Given the description of an element on the screen output the (x, y) to click on. 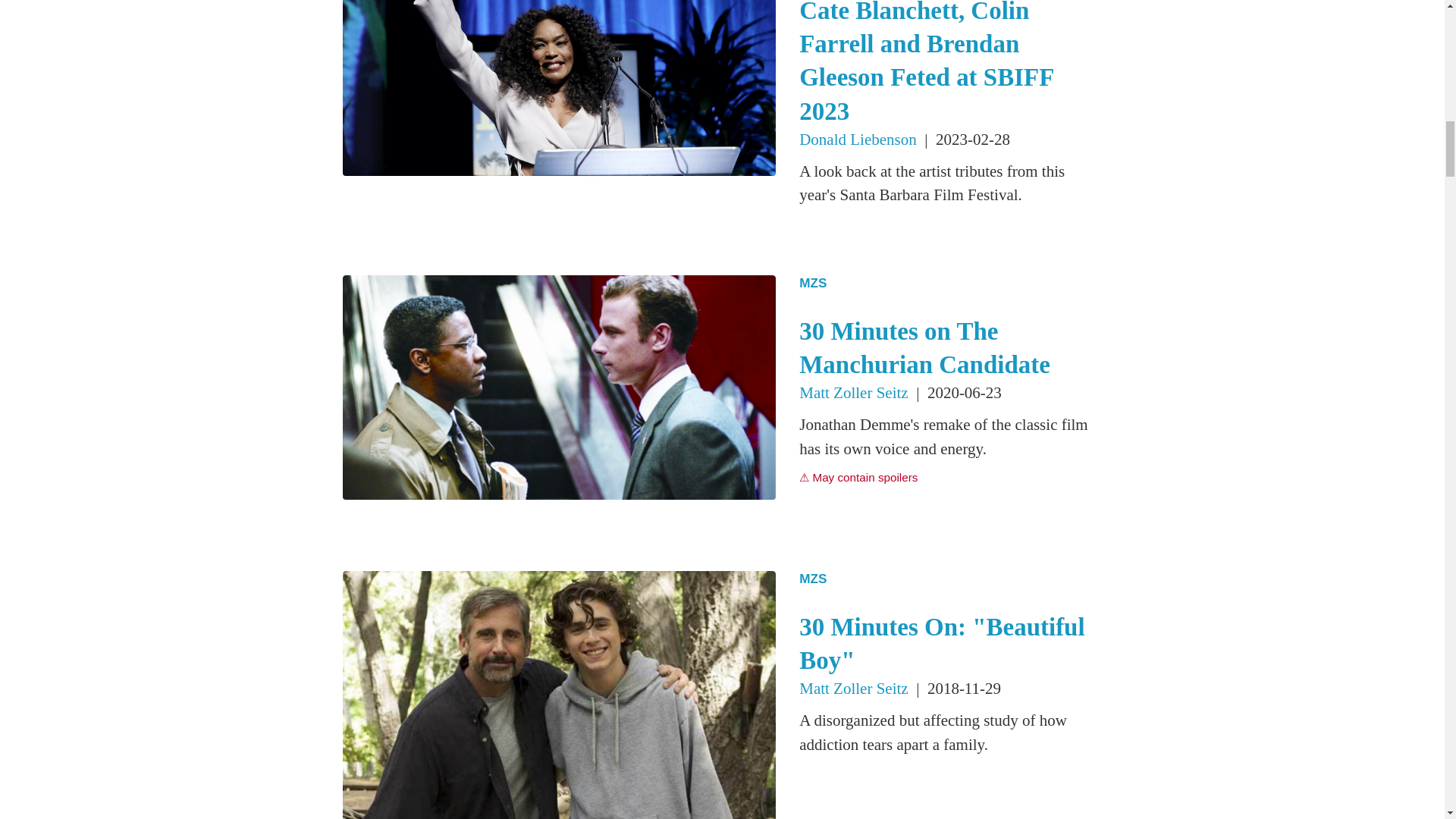
Donald Liebenson (858, 139)
MZS (949, 283)
MZS (949, 578)
Matt Zoller Seitz (853, 393)
30 Minutes on The Manchurian Candidate (924, 347)
30 Minutes On: "Beautiful Boy" (941, 643)
